Given the description of an element on the screen output the (x, y) to click on. 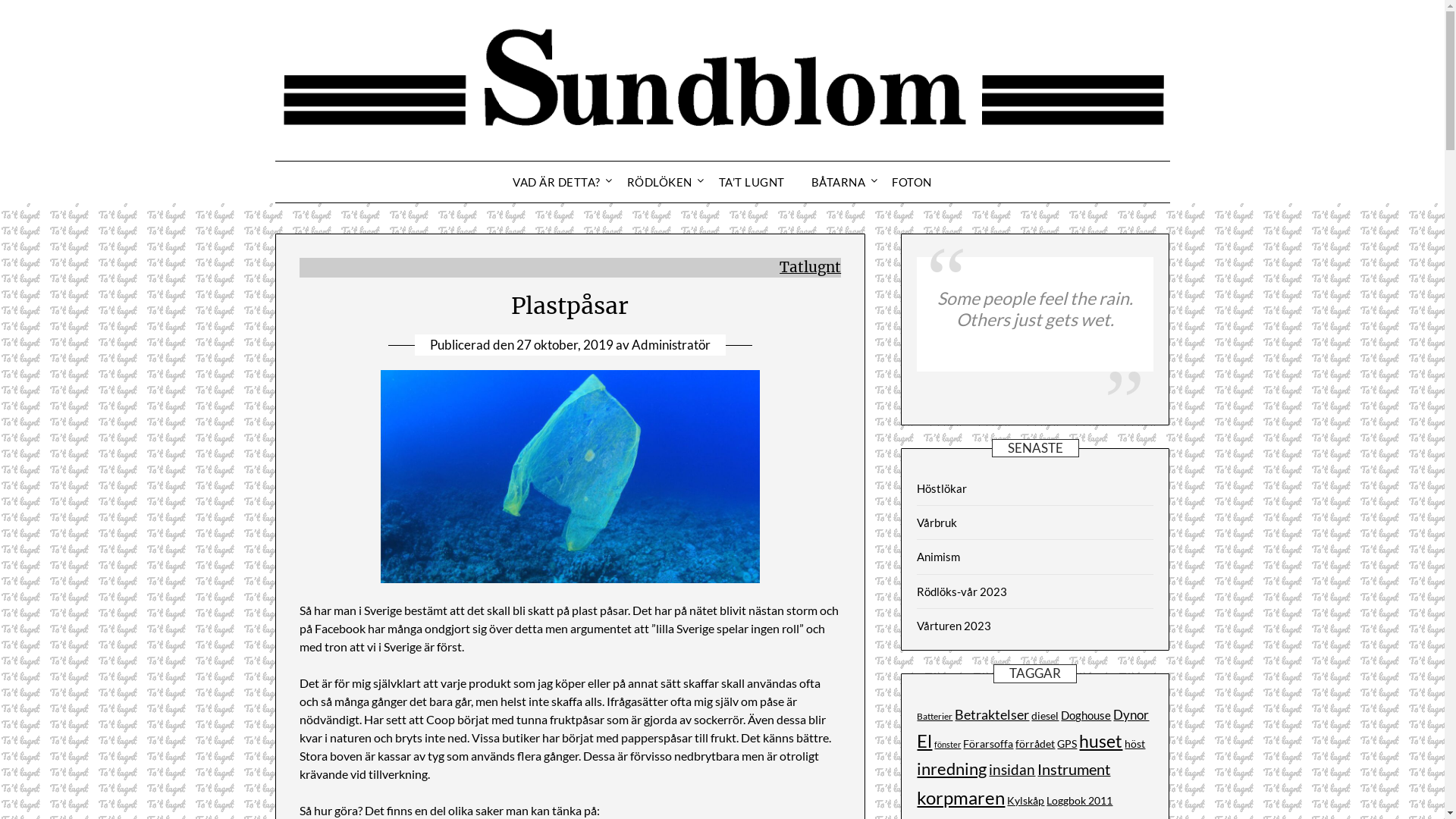
Dynor Element type: text (1130, 714)
GPS Element type: text (1066, 743)
inredning Element type: text (951, 768)
Betraktelser Element type: text (991, 714)
Loggbok 2011 Element type: text (1079, 800)
FOTON Element type: text (911, 181)
korpmaren Element type: text (960, 797)
Tatlugnt Element type: text (809, 267)
huset Element type: text (1100, 741)
insidan Element type: text (1011, 769)
diesel Element type: text (1044, 715)
Batterier Element type: text (934, 716)
Doghouse Element type: text (1085, 714)
Instrument Element type: text (1073, 769)
Animism Element type: text (938, 556)
El Element type: text (923, 740)
27 oktober, 2019 Element type: text (564, 344)
